Given the description of an element on the screen output the (x, y) to click on. 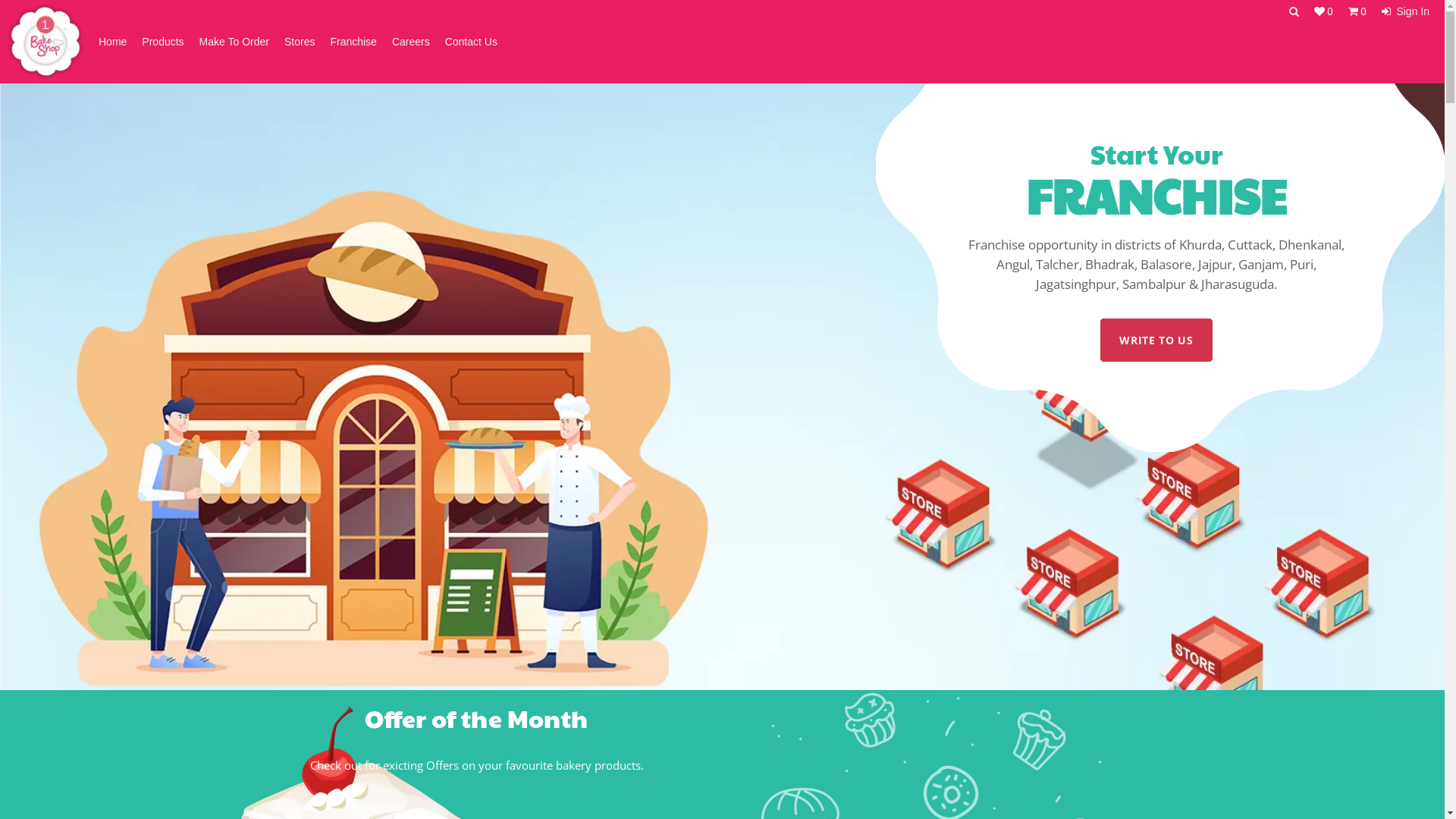
Home Element type: text (112, 41)
CONTACT US Element type: text (1156, 300)
Sign In Element type: text (1405, 11)
0 Element type: text (1323, 11)
Franchise
(current) Element type: text (352, 41)
Careers
(current) Element type: text (410, 41)
Contact Us
(current) Element type: text (471, 41)
Products Element type: text (162, 41)
Make To Order
(current) Element type: text (233, 41)
0 Element type: text (1357, 11)
Stores
(current) Element type: text (299, 41)
